Given the description of an element on the screen output the (x, y) to click on. 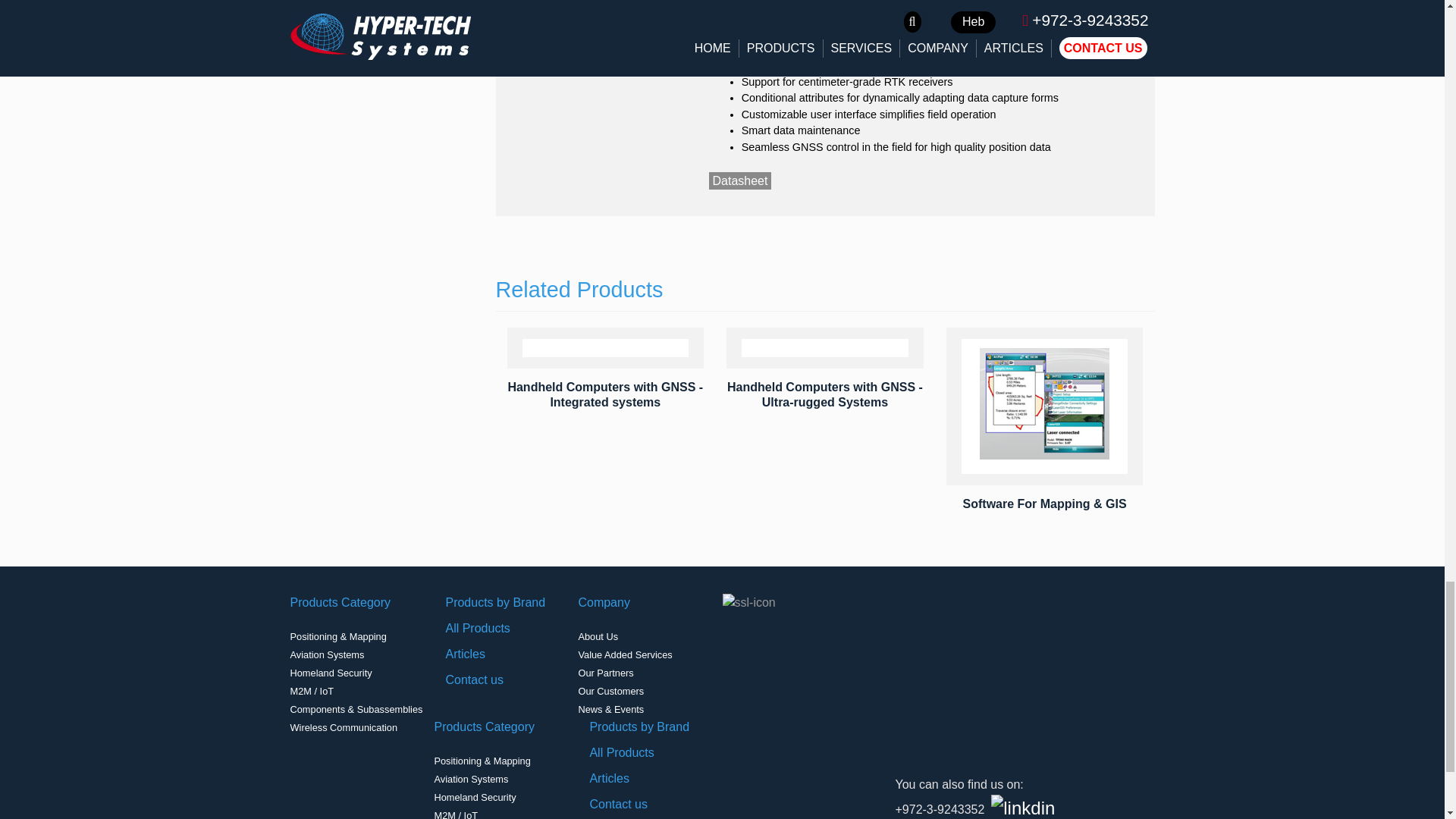
Handheld Computers with GNSS - Integrated systems (604, 393)
Datasheet (739, 180)
Handheld Computers with GNSS - Ultra-rugged Systems (824, 393)
